Given the description of an element on the screen output the (x, y) to click on. 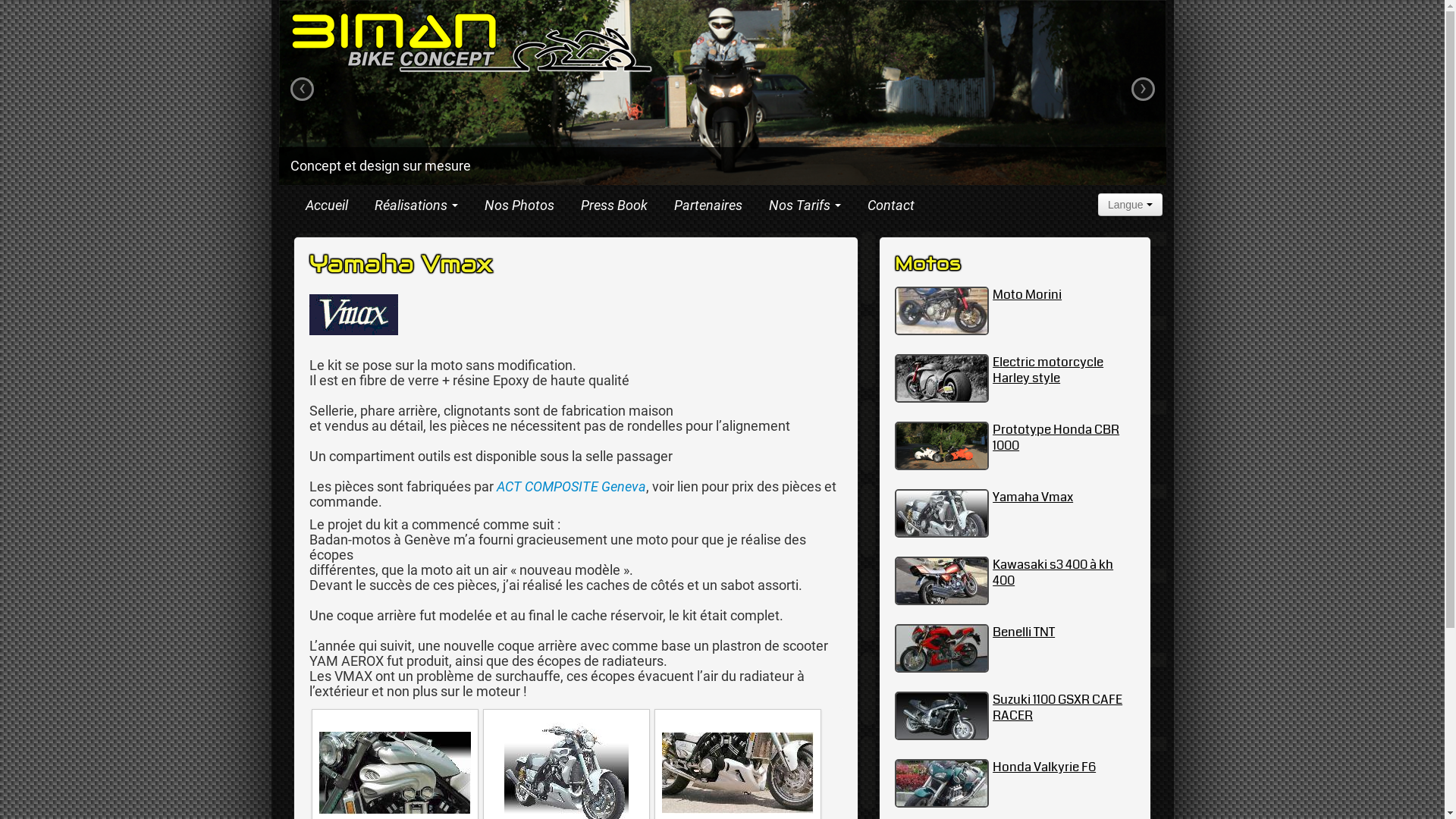
Partenaires Element type: text (707, 205)
Yamaha Vmax Element type: text (1032, 496)
Moto Morini Element type: text (1026, 294)
Prototype Honda CBR 1000 Element type: text (1055, 437)
Suzuki 1100 GSXR CAFE RACER Element type: text (1057, 707)
Contact Element type: text (890, 205)
Langue Element type: text (1130, 204)
ACT COMPOSITE Geneva Element type: text (570, 486)
Sabot VMax Element type: hover (736, 772)
Press Book Element type: text (613, 205)
Accueil Element type: text (326, 205)
Benelli TNT Element type: text (1023, 631)
Electric motorcycle Harley style Element type: text (1047, 369)
Honda Valkyrie F6 Element type: text (1043, 766)
Nos Photos Element type: text (519, 205)
Nos Tarifs Element type: text (803, 205)
